Given the description of an element on the screen output the (x, y) to click on. 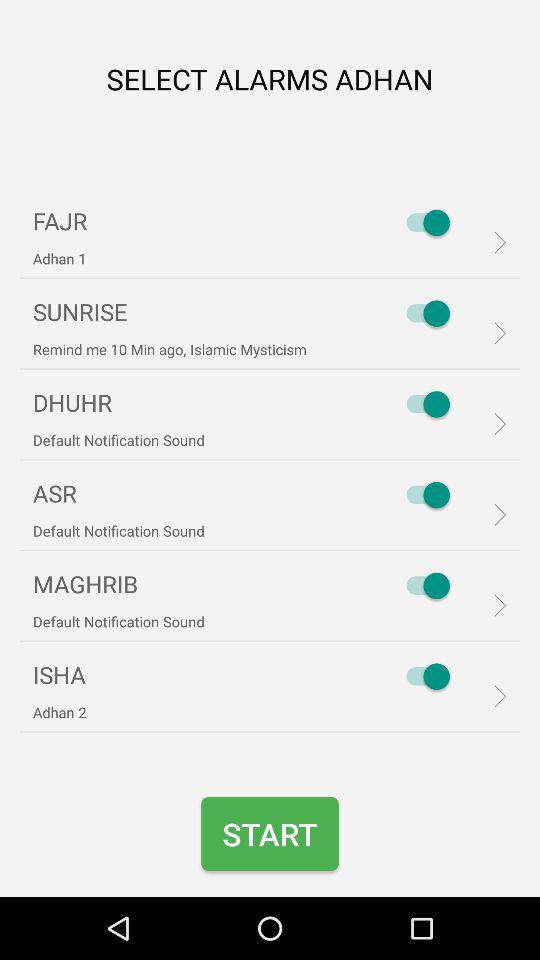
click the item next to the default notification sound (423, 585)
